Given the description of an element on the screen output the (x, y) to click on. 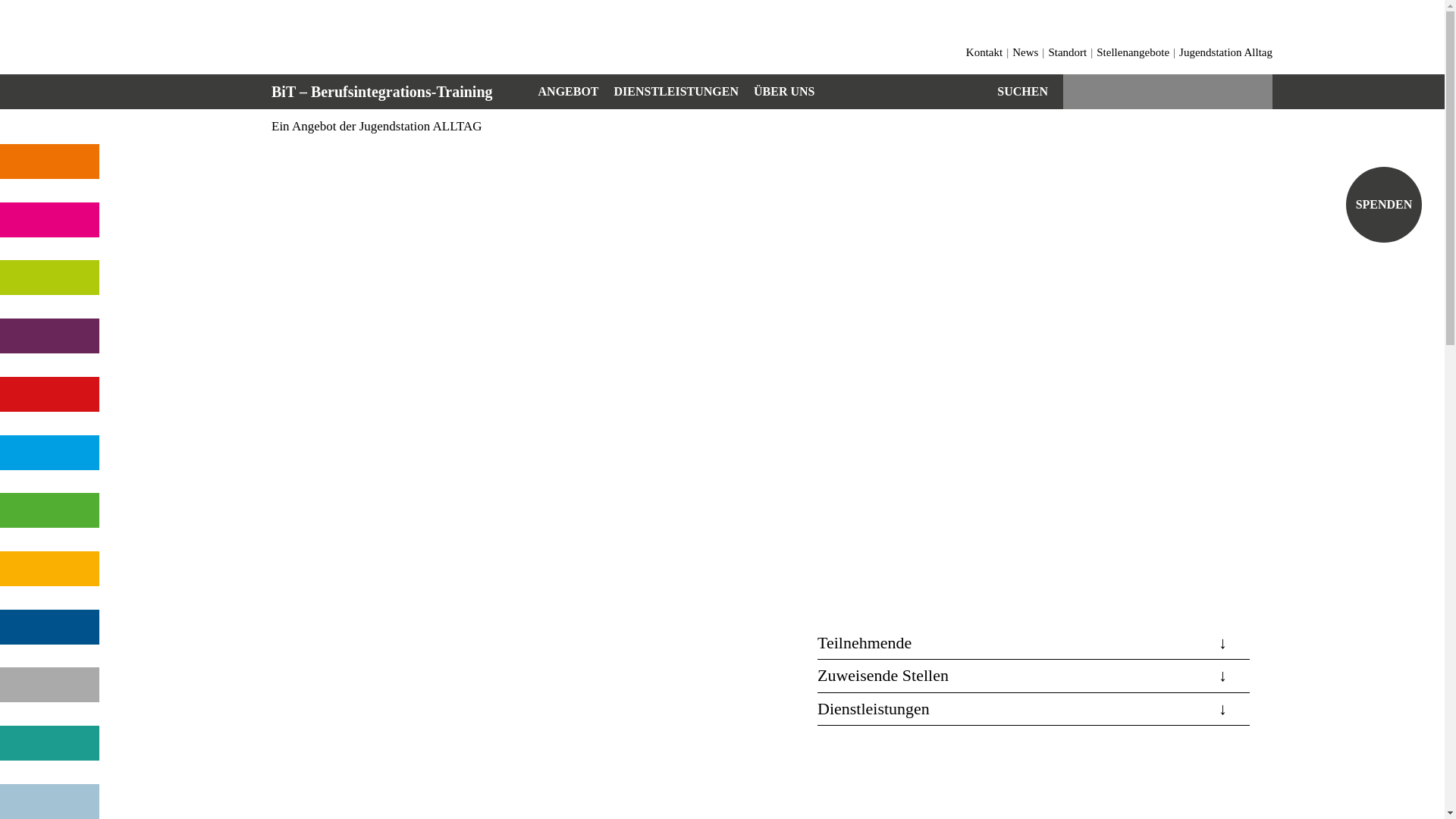
Suchen Element type: text (1022, 91)
News Element type: text (1025, 52)
Standort Element type: text (1067, 52)
Kontakt Element type: text (984, 52)
Jugendstation Alltag Element type: text (1225, 52)
Stellenangebote Element type: text (1132, 52)
SPENDEN Element type: text (1383, 204)
